Given the description of an element on the screen output the (x, y) to click on. 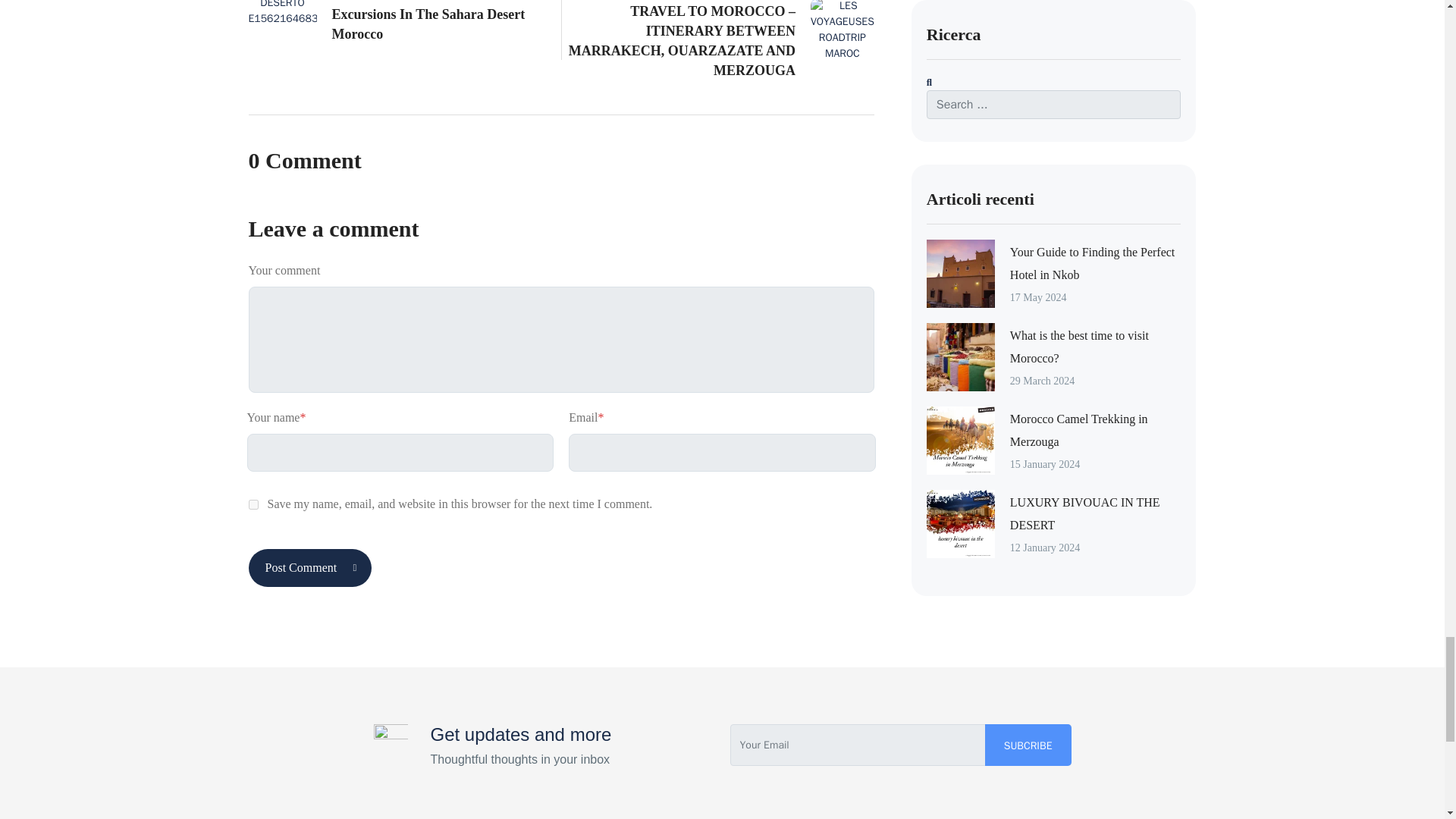
yes (253, 504)
Post Comment (405, 23)
Post Comment (310, 567)
Subcribe (310, 567)
